Given the description of an element on the screen output the (x, y) to click on. 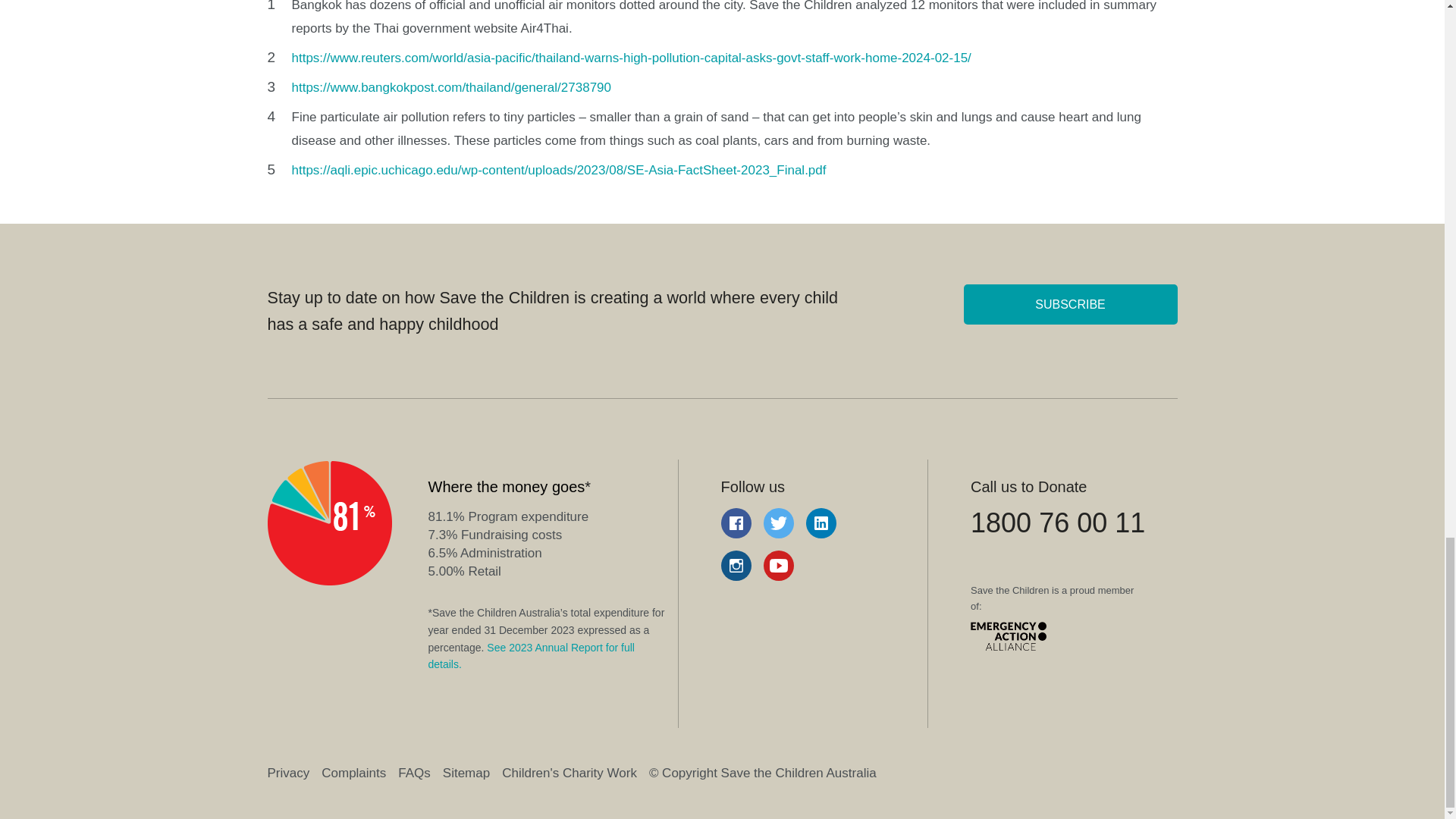
Twitter (777, 522)
Facebook (735, 522)
Linkedin (820, 522)
Youtube (777, 565)
Instagram (735, 565)
